Given the description of an element on the screen output the (x, y) to click on. 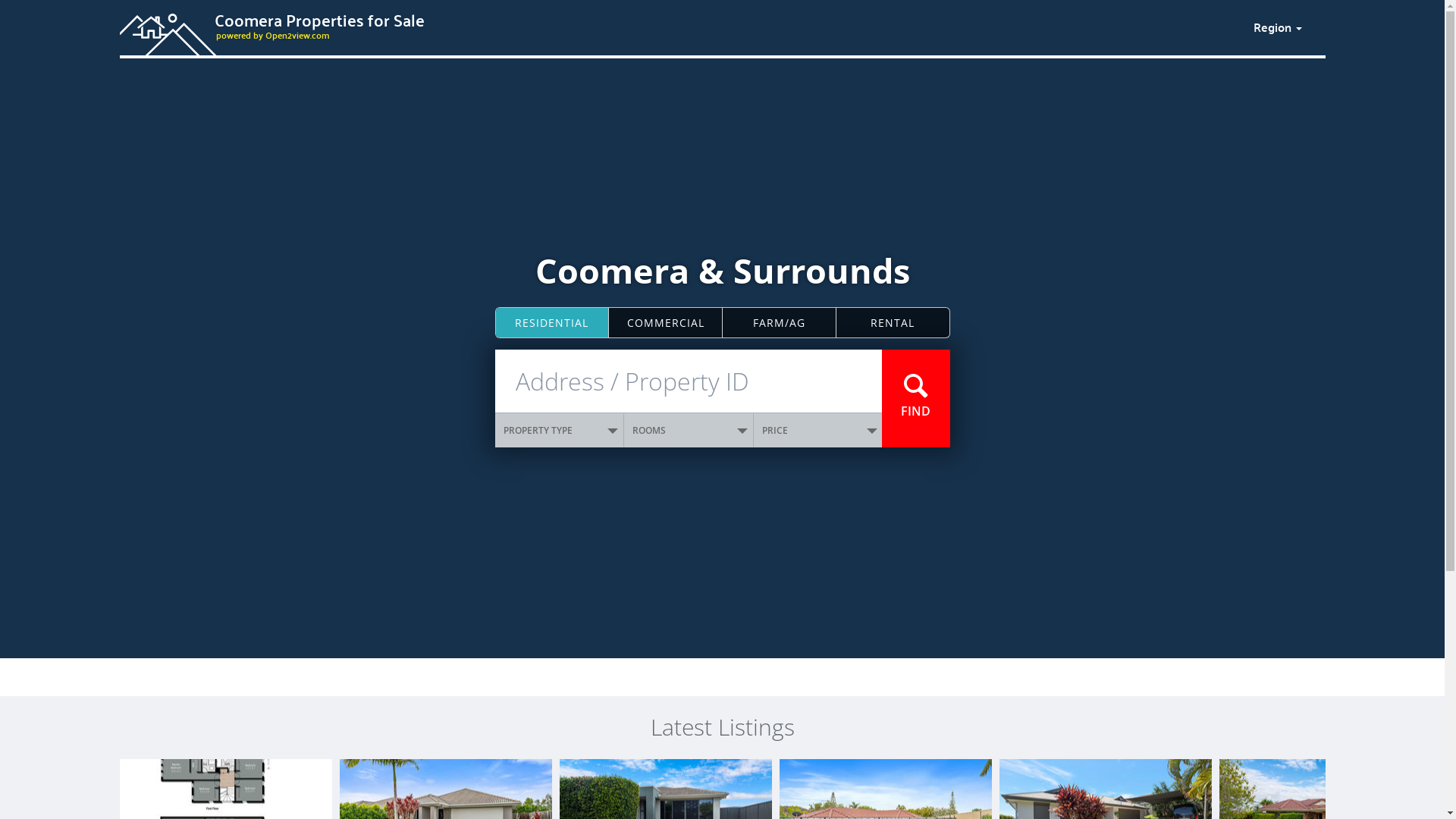
ROOMS Element type: text (688, 430)
Coomera Properties for Sale
powered by Open2view.com Element type: text (676, 25)
PRICE Element type: text (817, 430)
PROPERTY TYPE Element type: text (559, 430)
